Given the description of an element on the screen output the (x, y) to click on. 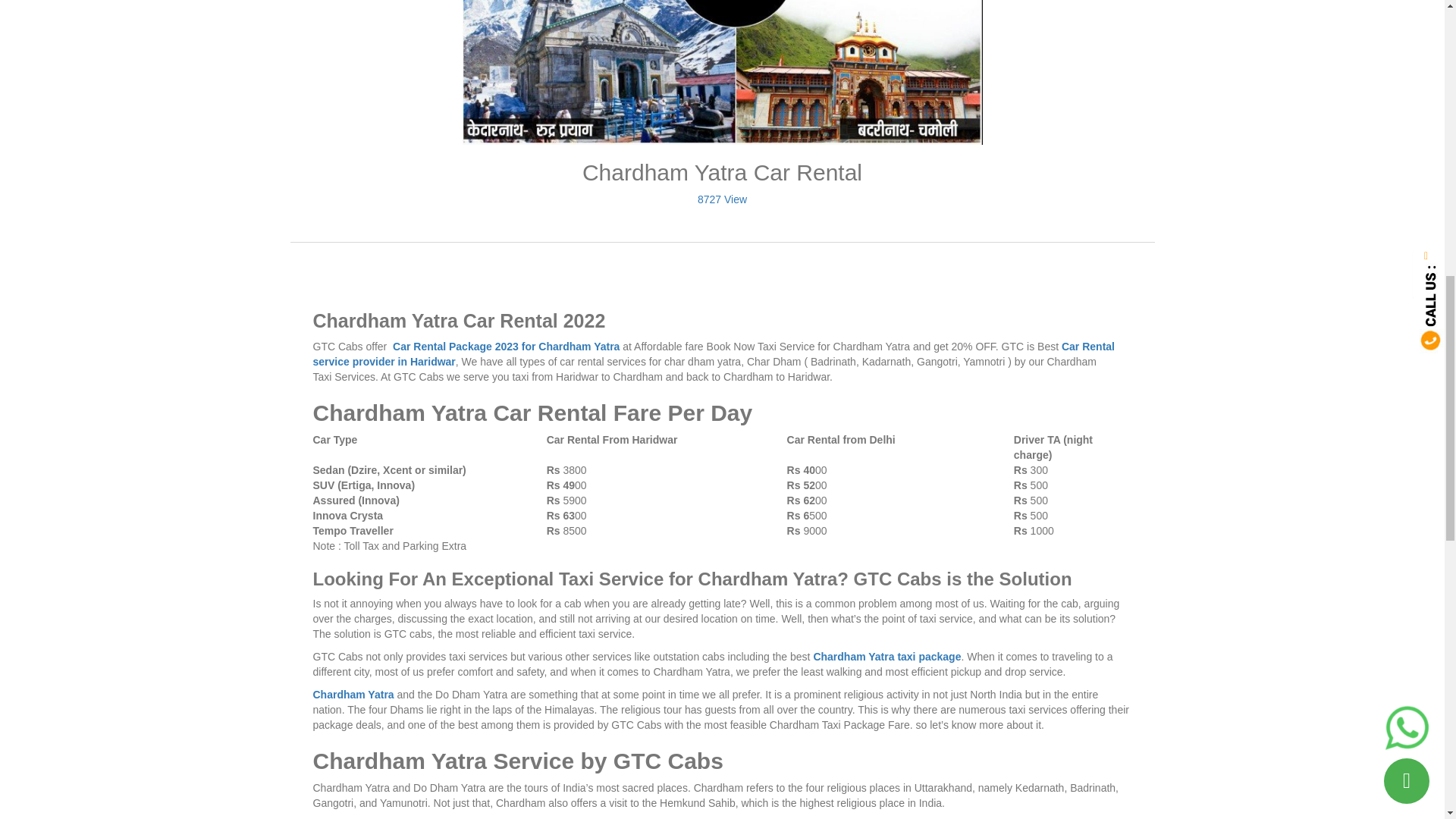
Car Rental service provider in Haridwar (714, 353)
8727 View (721, 199)
Car Rental Package 2023 for Chardham Yatra (506, 346)
Chardham Yatra taxi package (886, 656)
Chardham Yatra (353, 694)
